Given the description of an element on the screen output the (x, y) to click on. 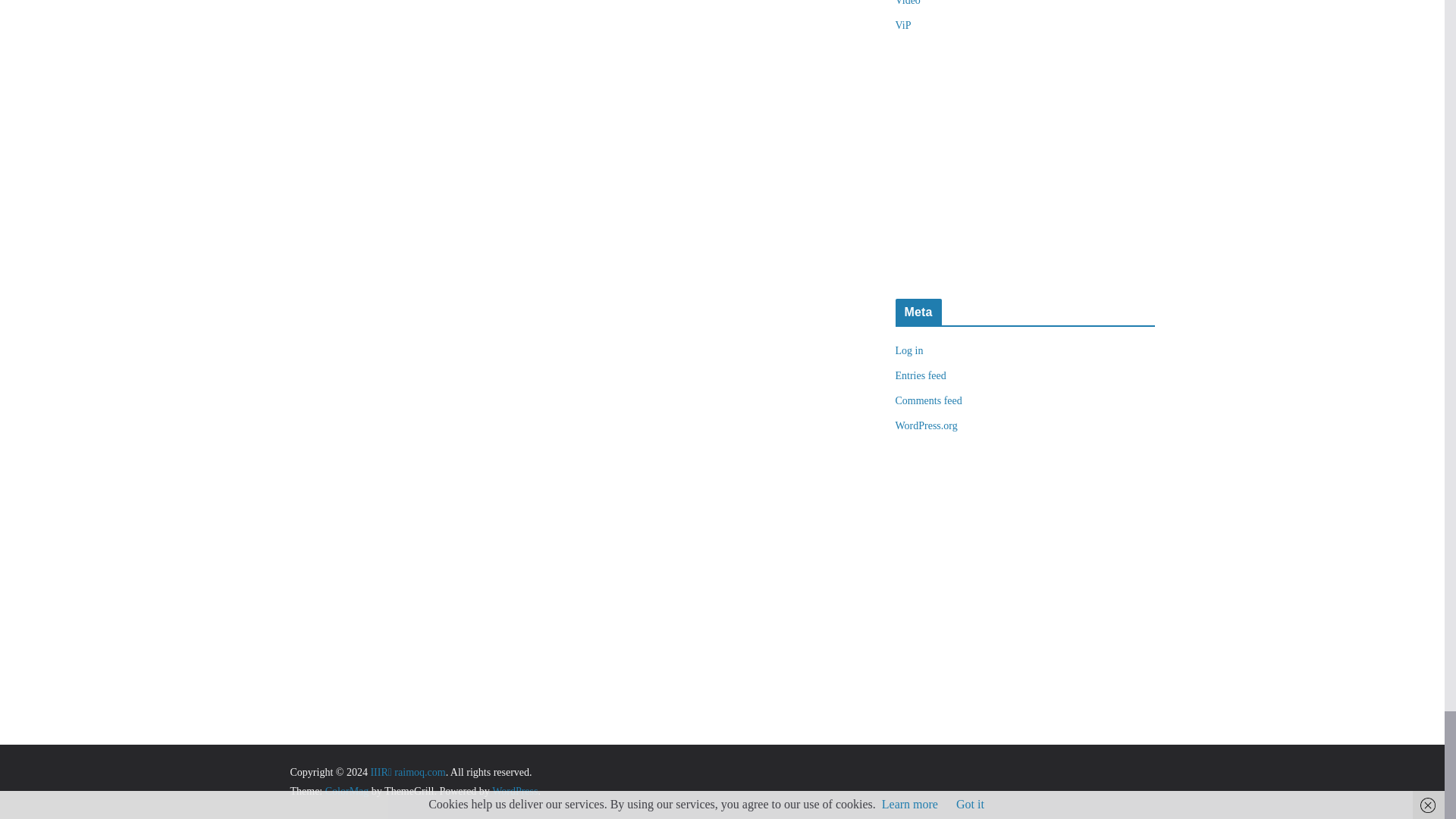
ColorMag (346, 790)
WordPress (514, 790)
